Given the description of an element on the screen output the (x, y) to click on. 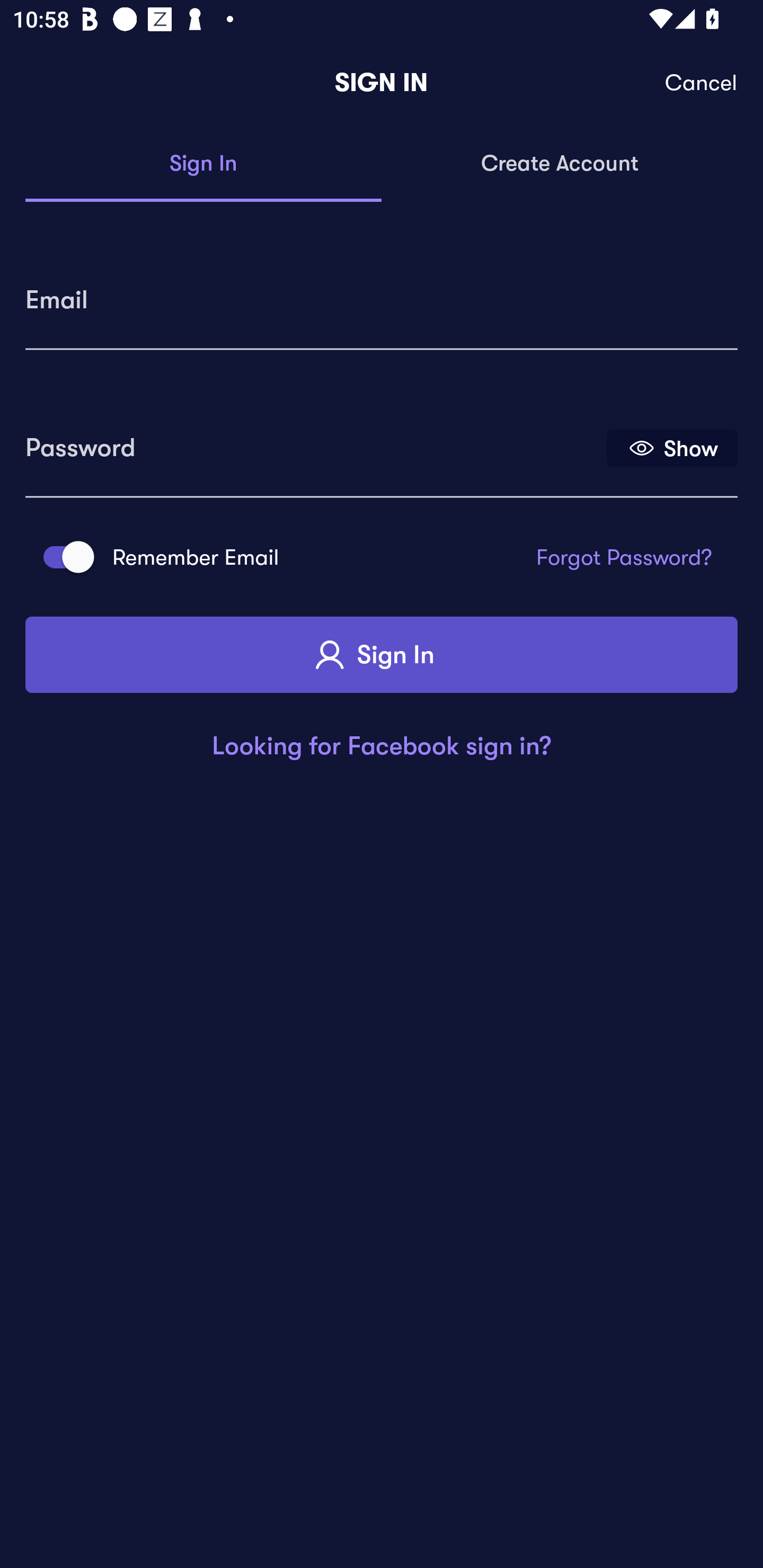
Cancel (701, 82)
Sign In (203, 164)
Create Account (559, 164)
Email (381, 293)
Password (314, 441)
Show Password Show (671, 447)
Remember Email (62, 557)
Sign In (381, 654)
